Given the description of an element on the screen output the (x, y) to click on. 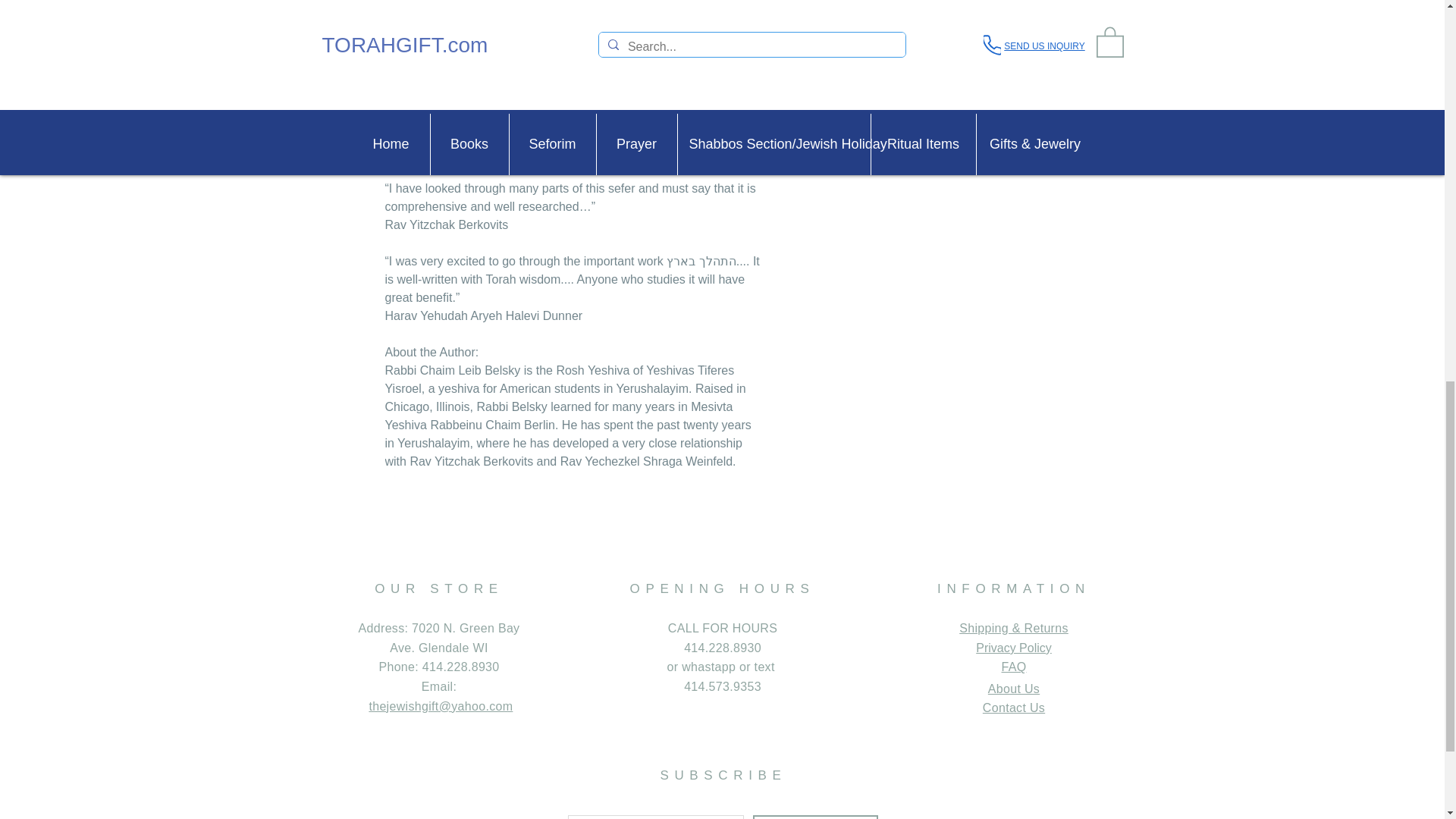
About Us (1013, 688)
Contact Us (1013, 707)
CALL FOR HOURS (722, 627)
FAQ (1013, 666)
Privacy Policy (1013, 647)
Subscribe Now (814, 816)
